Given the description of an element on the screen output the (x, y) to click on. 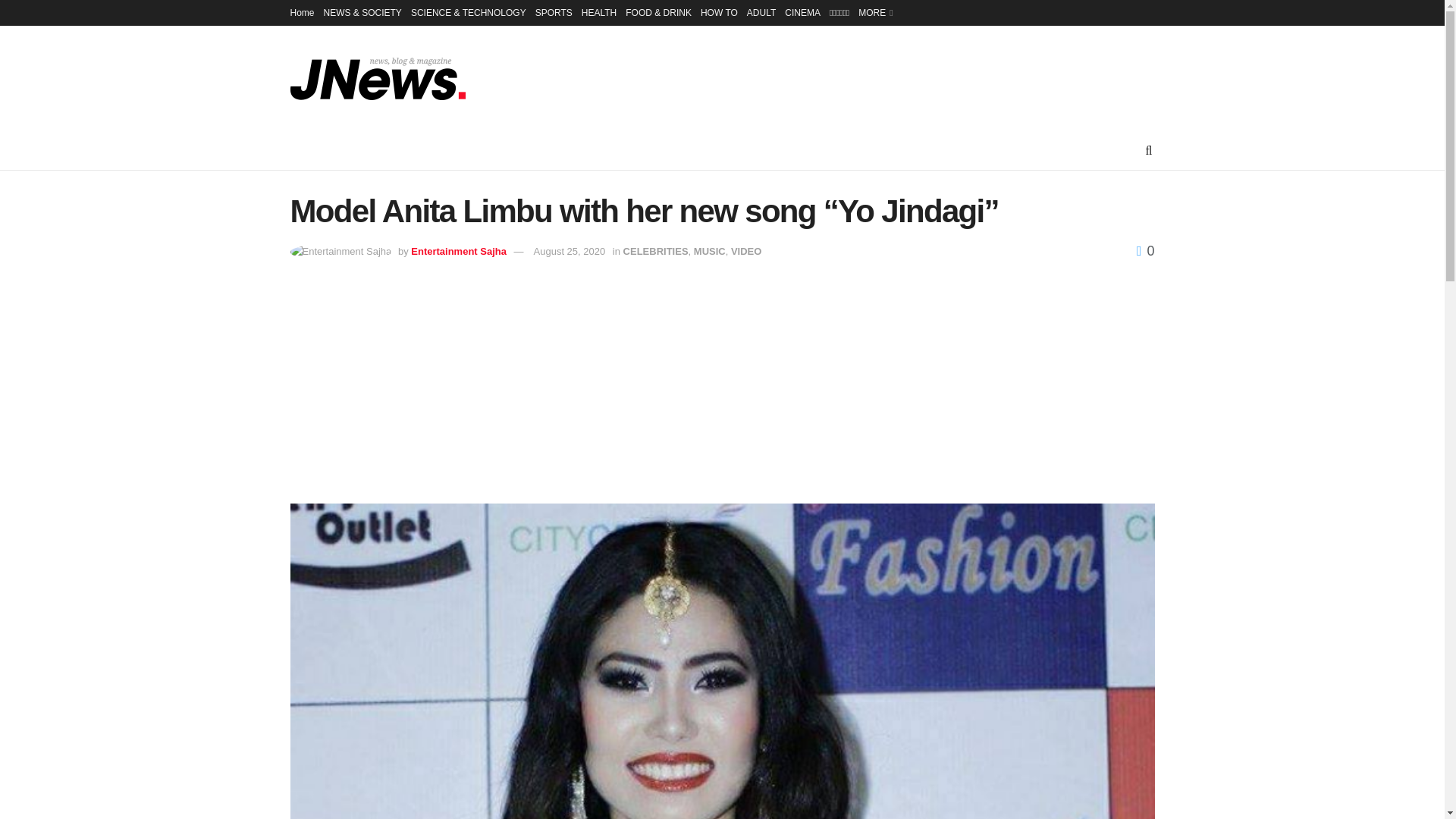
HEALTH (597, 12)
Home (301, 12)
HOW TO (719, 12)
SPORTS (553, 12)
MORE (874, 12)
ADULT (761, 12)
CINEMA (802, 12)
